Given the description of an element on the screen output the (x, y) to click on. 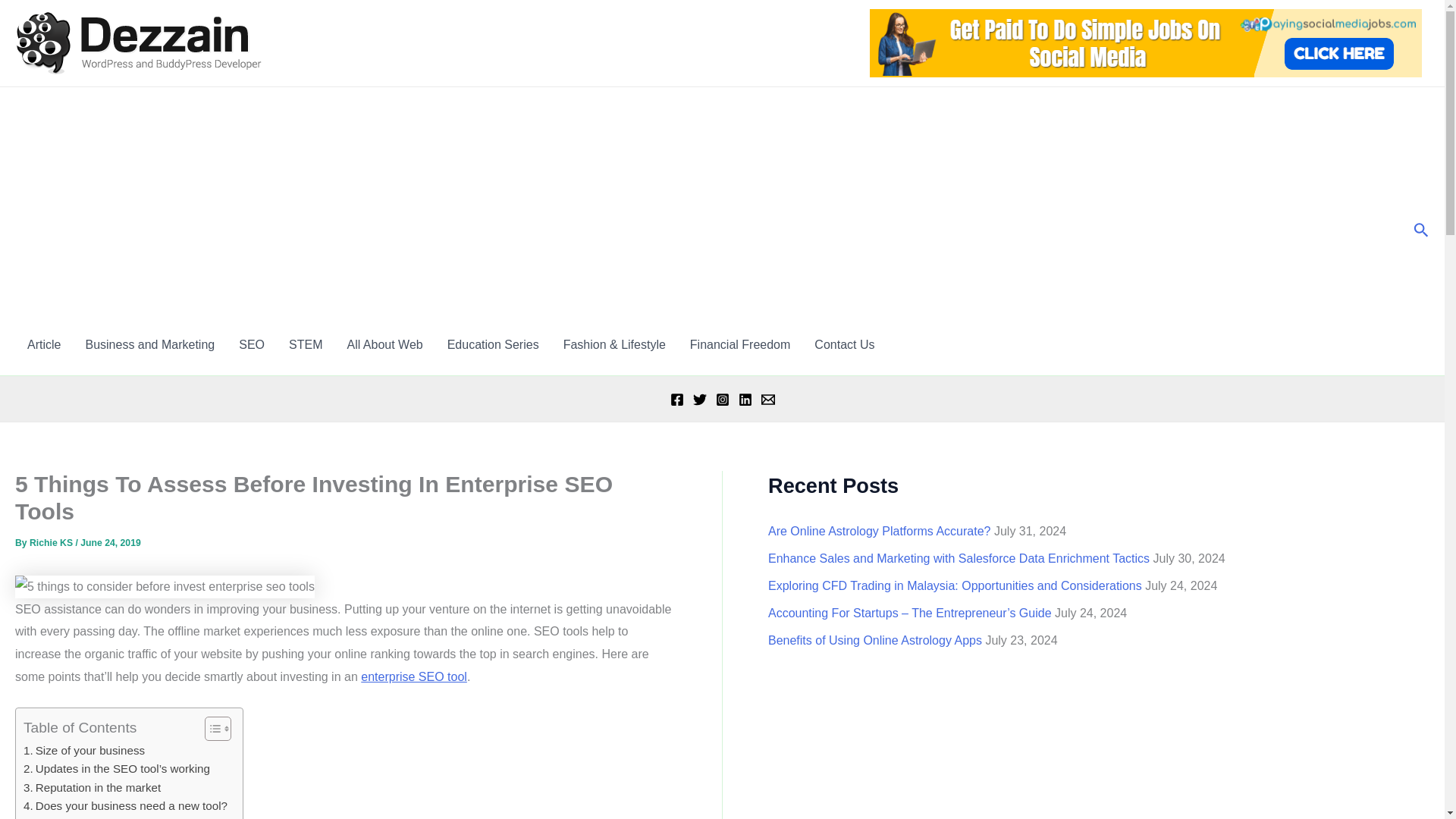
View all posts by Richie KS (52, 542)
Size of your business (83, 751)
Reputation in the market (91, 787)
enterprise SEO tool (414, 676)
Size of your business (83, 751)
Article (43, 344)
Financial Freedom (740, 344)
any inquiries? (844, 344)
Does your business need a new tool? (125, 805)
Contact Us (844, 344)
STEM (305, 344)
All About Web (383, 344)
Reputation in the market (91, 787)
How vast are their capabilities? (109, 816)
Richie KS (52, 542)
